Given the description of an element on the screen output the (x, y) to click on. 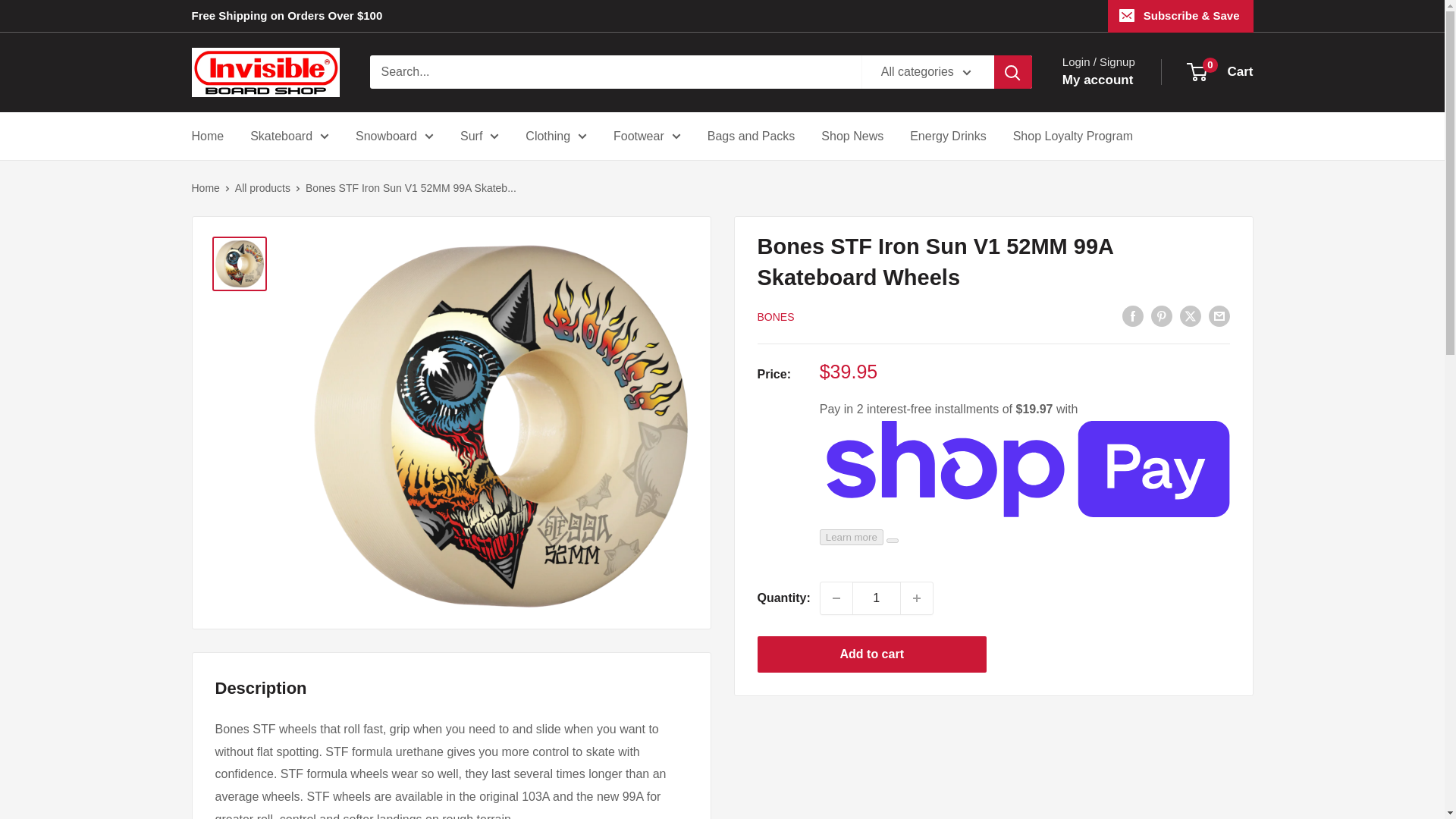
Increase quantity by 1 (917, 598)
1 (876, 598)
Decrease quantity by 1 (836, 598)
